Given the description of an element on the screen output the (x, y) to click on. 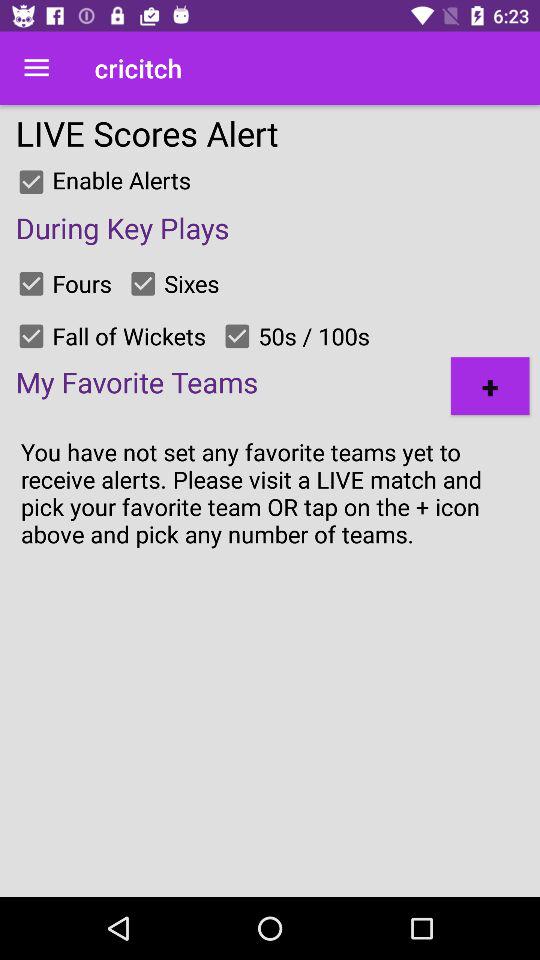
check option (31, 283)
